Given the description of an element on the screen output the (x, y) to click on. 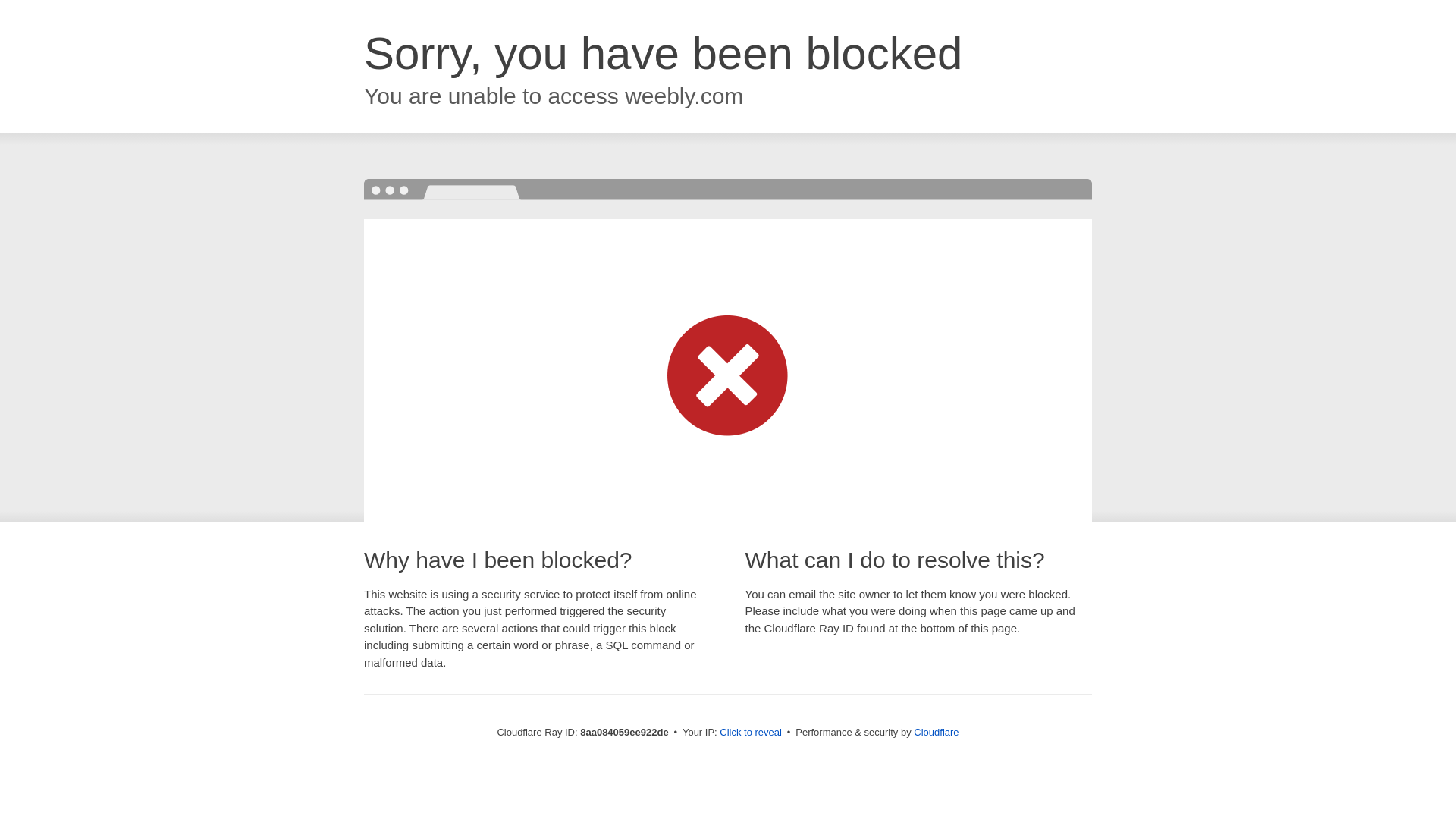
Click to reveal (750, 732)
Cloudflare (936, 731)
